Given the description of an element on the screen output the (x, y) to click on. 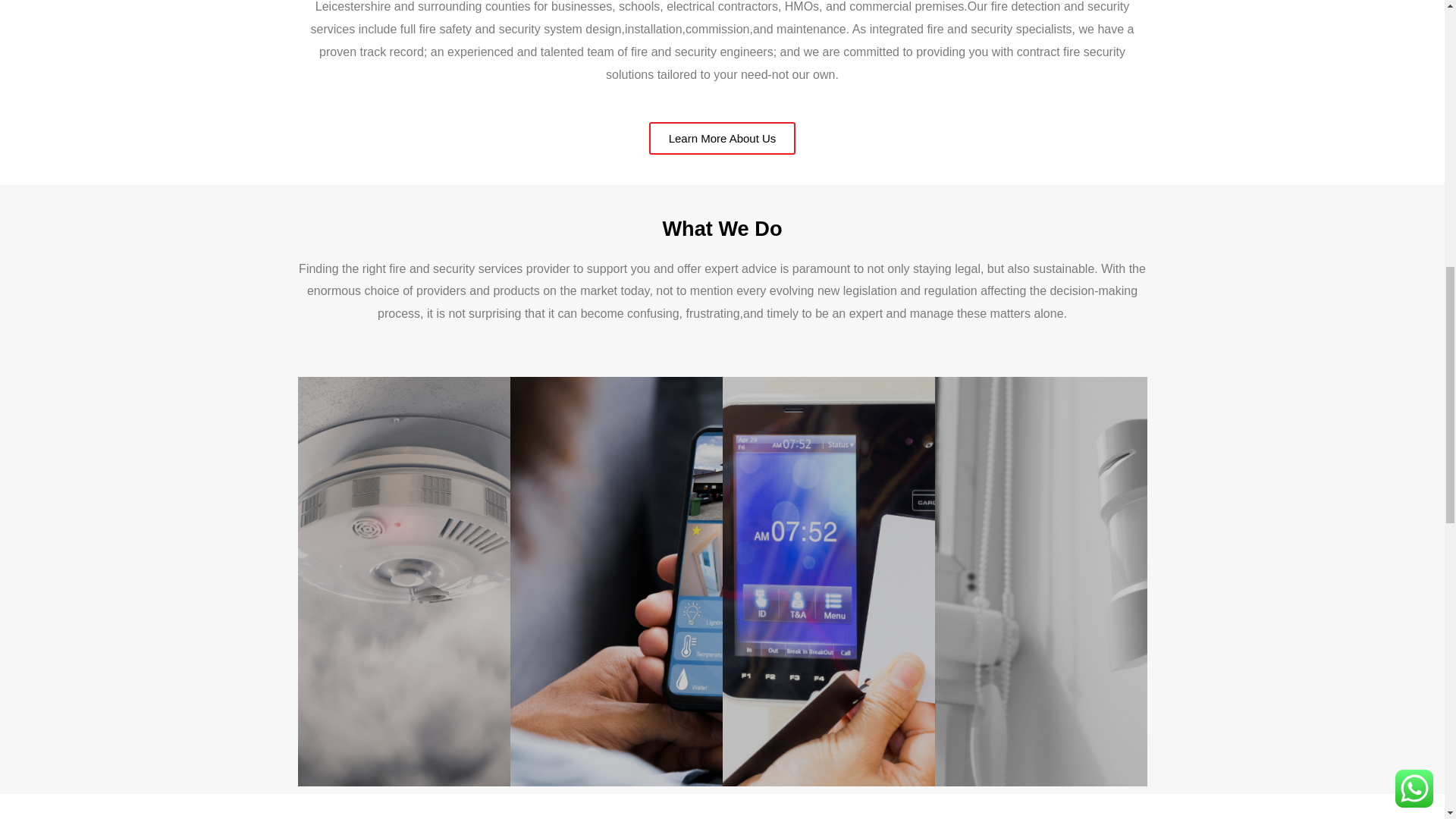
Learn More About Us (722, 138)
